Given the description of an element on the screen output the (x, y) to click on. 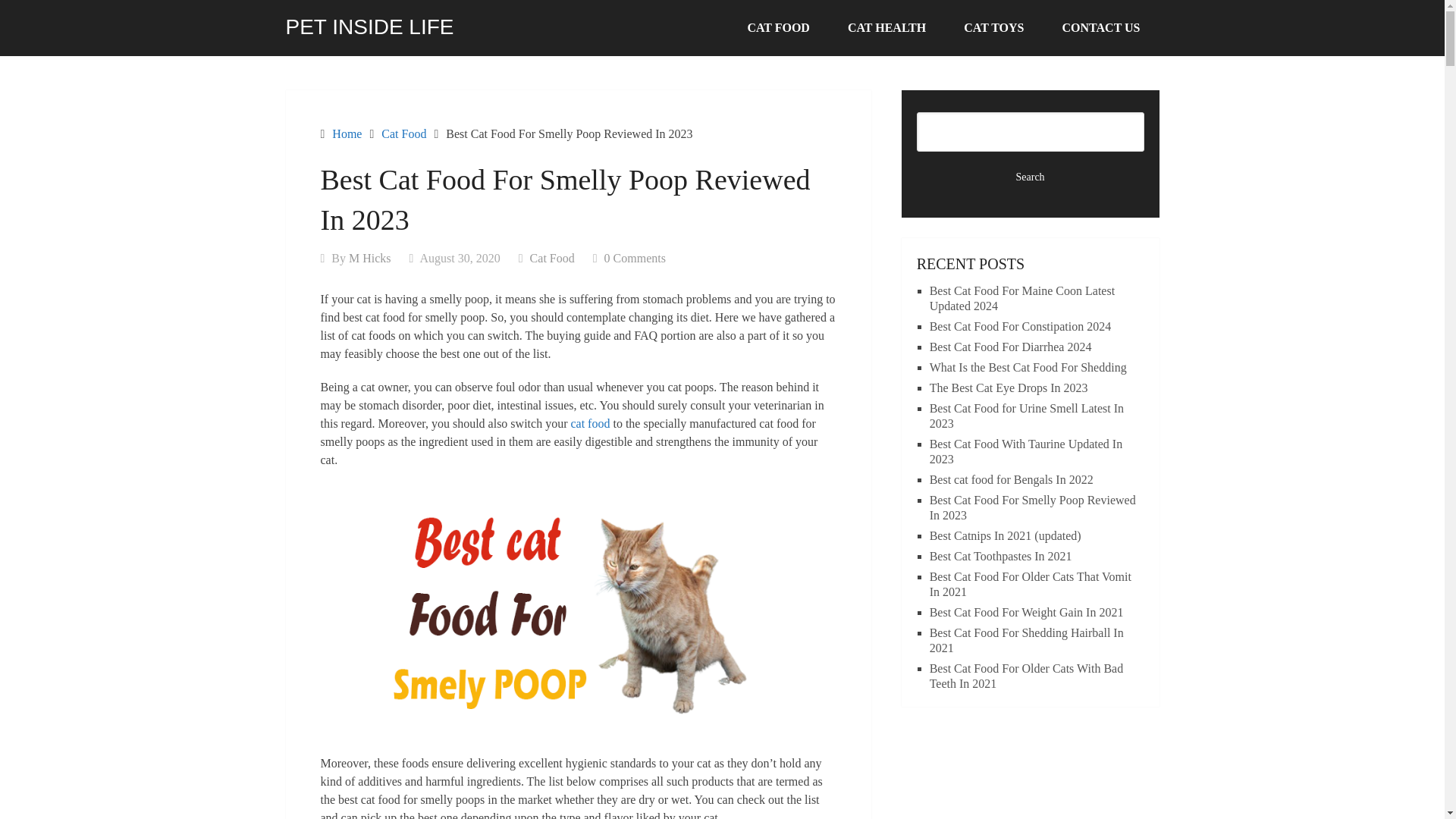
Best Cat Food For Smelly Poop Reviewed In 2023 (1032, 507)
Best Cat Food For Shedding Hairball In 2021 (1027, 640)
Cat Food (552, 257)
Best cat food for Bengals In 2022 (1011, 479)
Home (346, 133)
Posts by M Hicks (370, 257)
The Best Cat Eye Drops In 2023 (1008, 387)
0 Comments (634, 257)
Best Cat Food For Diarrhea 2024 (1011, 346)
Search (1030, 176)
